Given the description of an element on the screen output the (x, y) to click on. 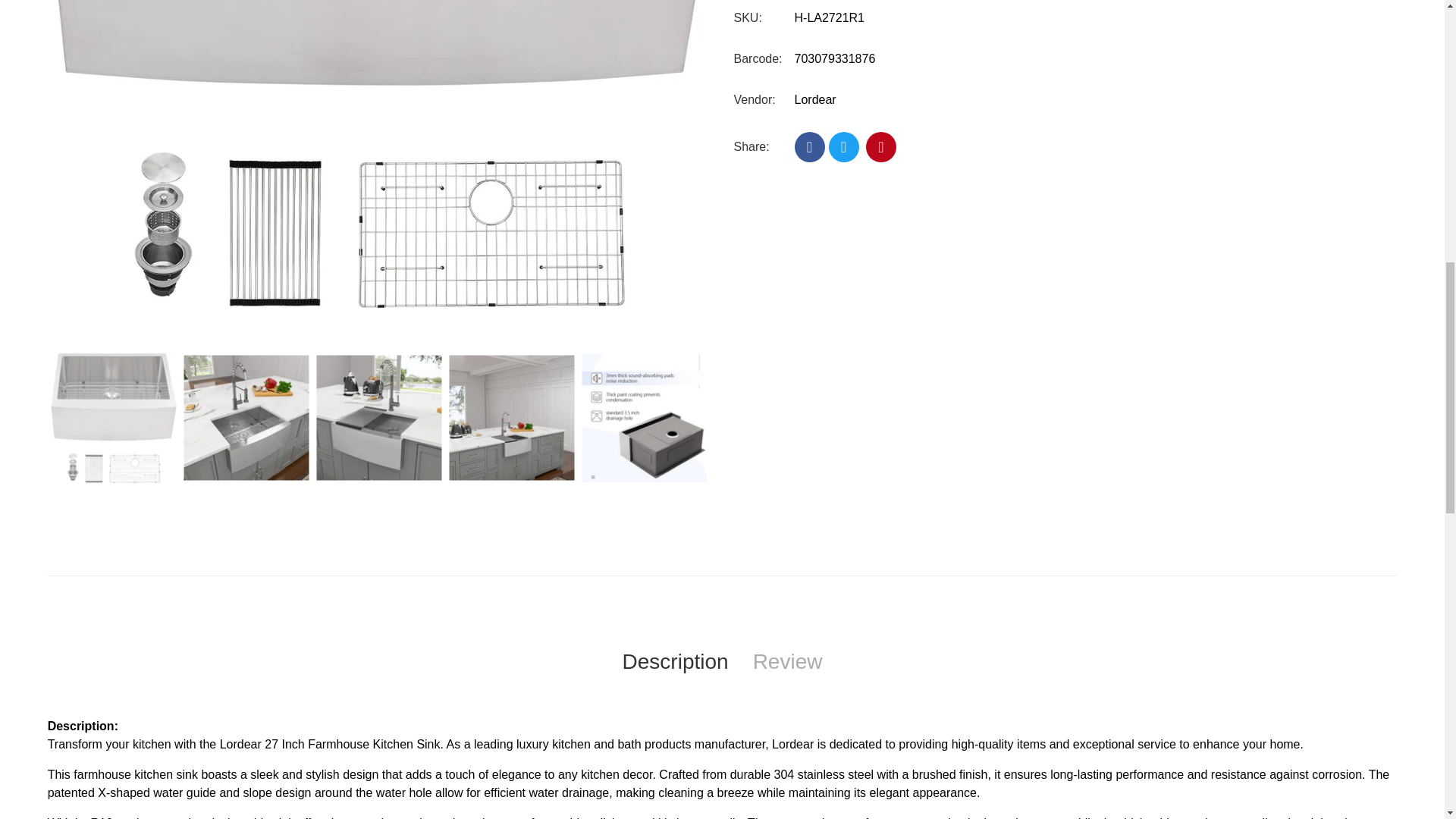
Follow us on Pinterest (881, 146)
Follow us on Facebook (809, 146)
Follow us on Twitter (843, 146)
